Given the description of an element on the screen output the (x, y) to click on. 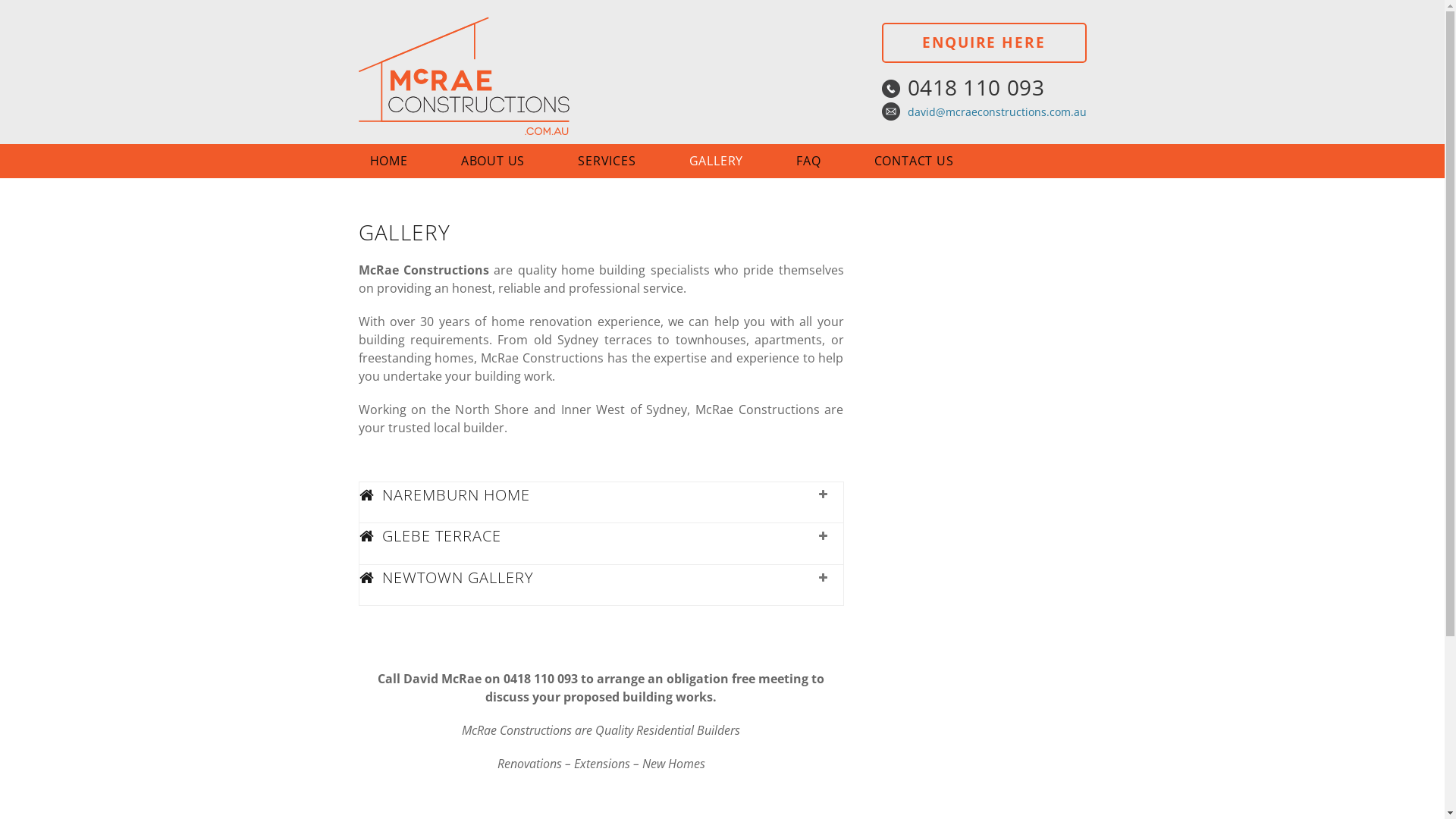
ENQUIRE HERE Element type: text (983, 42)
david@mcraeconstructions.com.au Element type: text (995, 111)
HOME Element type: text (402, 161)
CONTACT US Element type: text (928, 161)
SERVICES Element type: text (621, 161)
GALLERY Element type: text (731, 161)
ABOUT US Element type: text (507, 161)
McRae Constructions Pty Ltd Element type: text (478, 77)
FAQ Element type: text (823, 161)
